Given the description of an element on the screen output the (x, y) to click on. 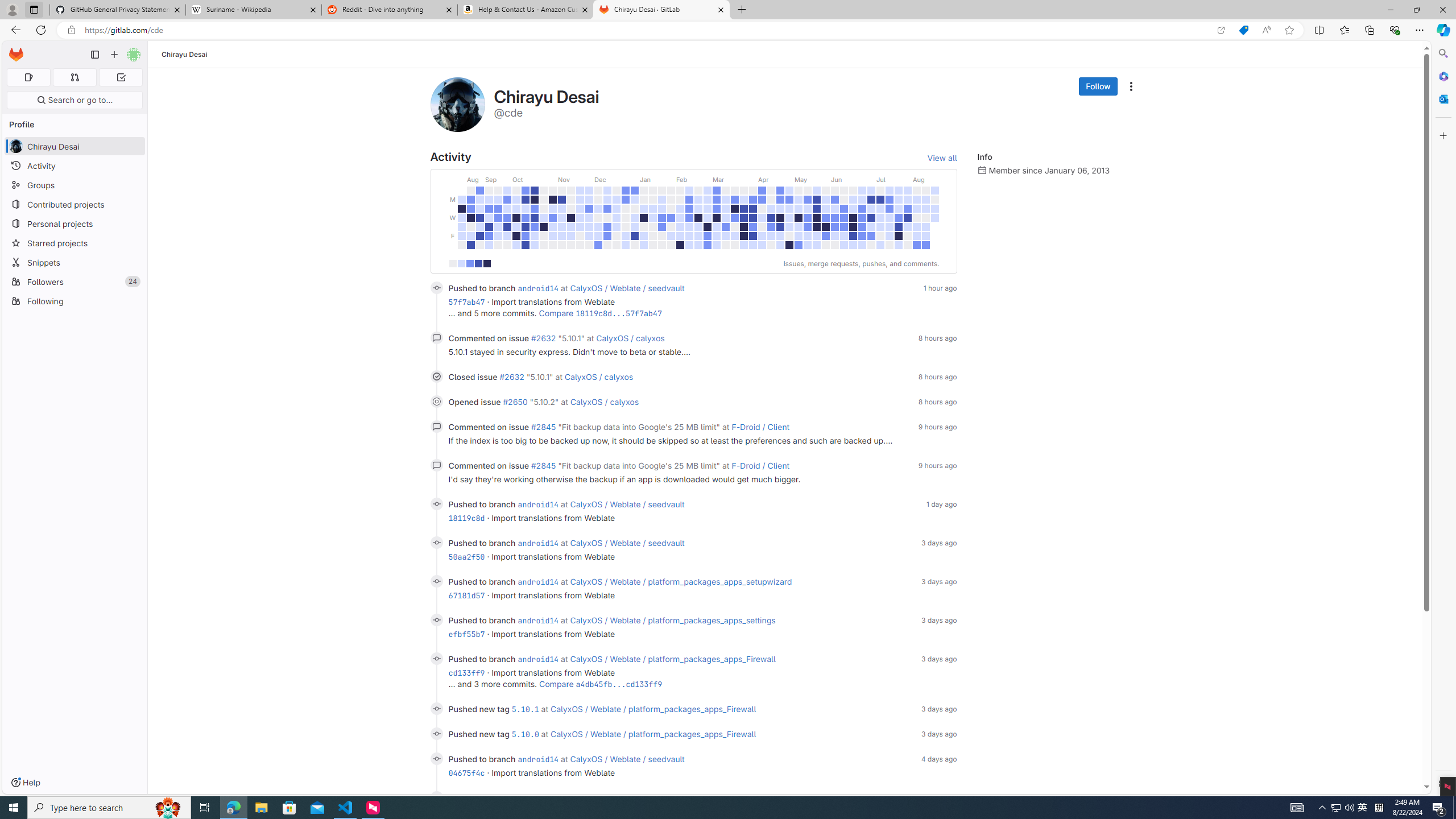
Help (25, 782)
Groups (74, 185)
